Given the description of an element on the screen output the (x, y) to click on. 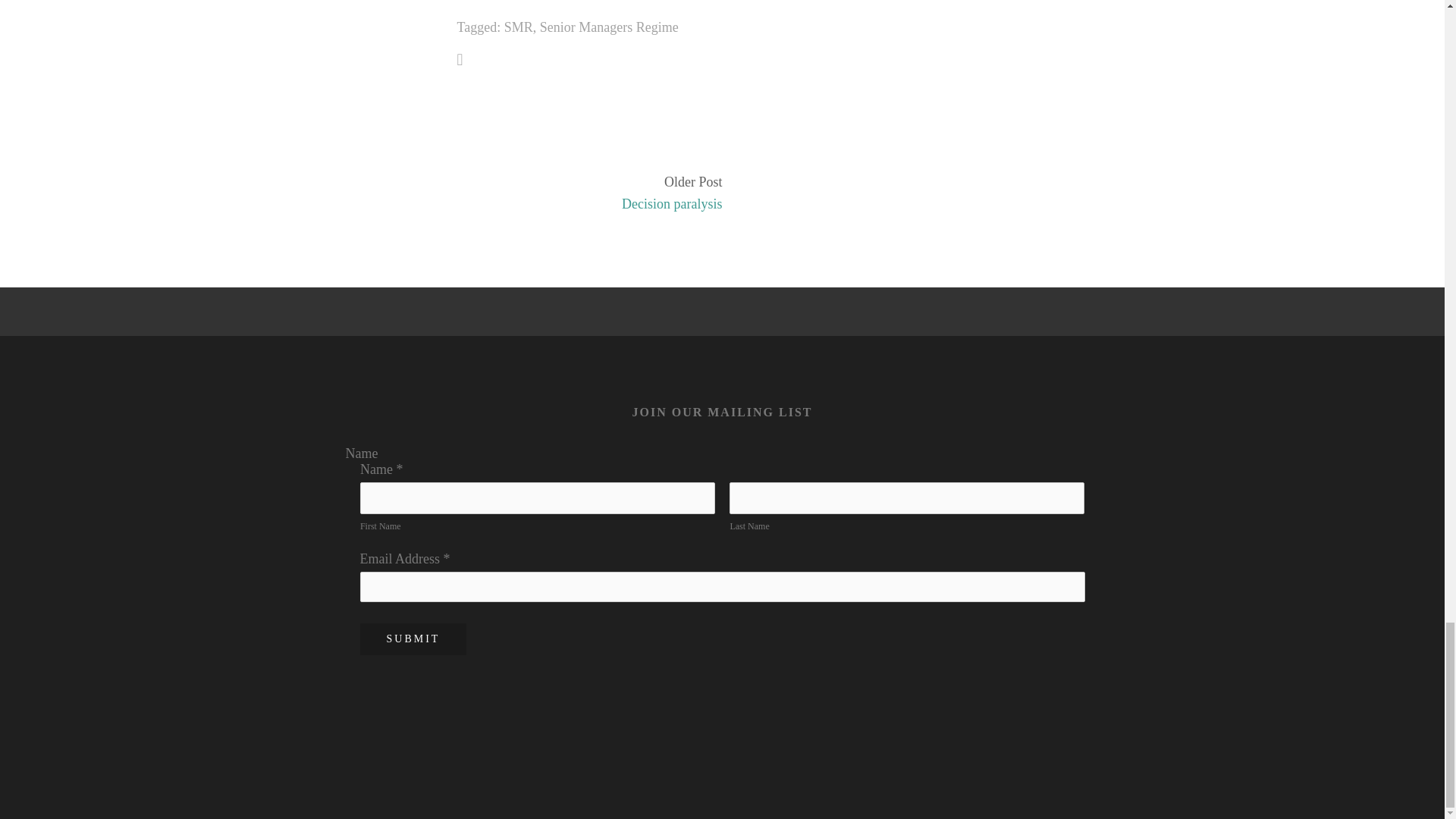
Submit (412, 639)
SMR (517, 27)
Senior Managers Regime (609, 27)
Submit (412, 639)
Decision paralysis (596, 204)
